Given the description of an element on the screen output the (x, y) to click on. 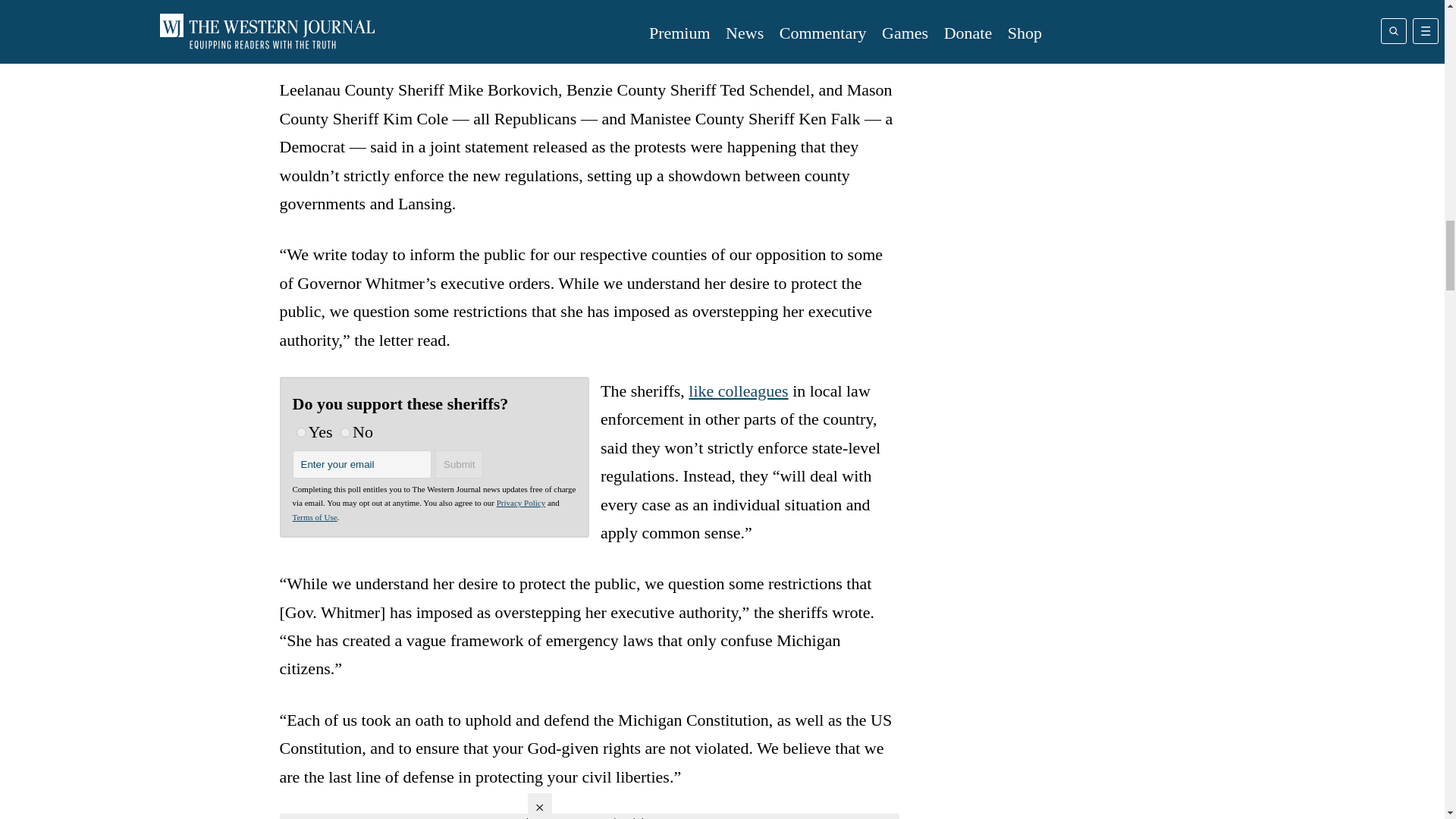
no (345, 432)
Submit (459, 464)
yes (300, 432)
